Given the description of an element on the screen output the (x, y) to click on. 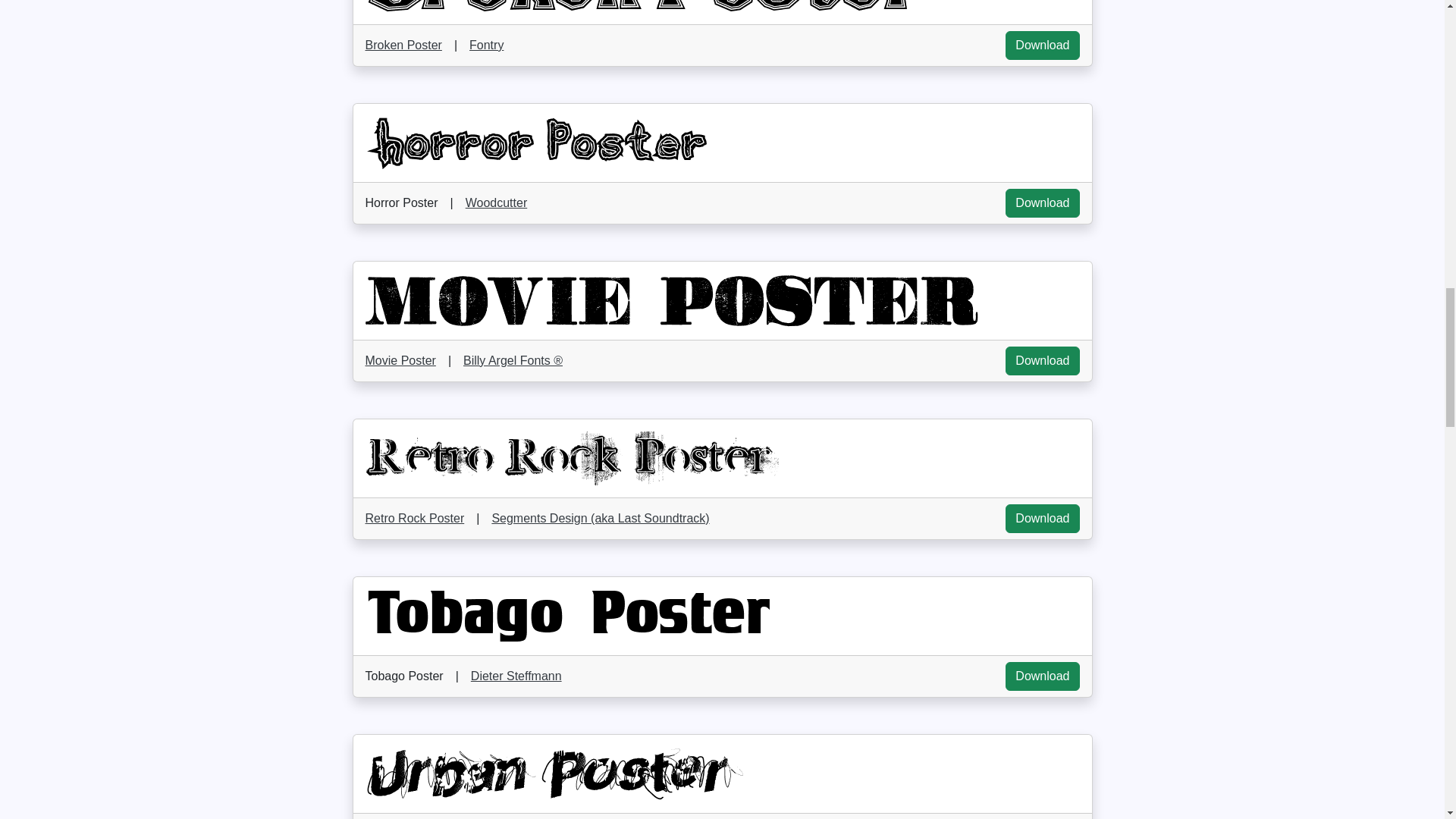
Download (1042, 676)
Dieter Steffmann (516, 675)
Retro Rock Poster (414, 518)
Download (1042, 518)
Movie Poster (400, 361)
Download (1042, 203)
Broken Poster (403, 45)
Download (1042, 360)
Fontry (485, 44)
Download (1042, 45)
